Given the description of an element on the screen output the (x, y) to click on. 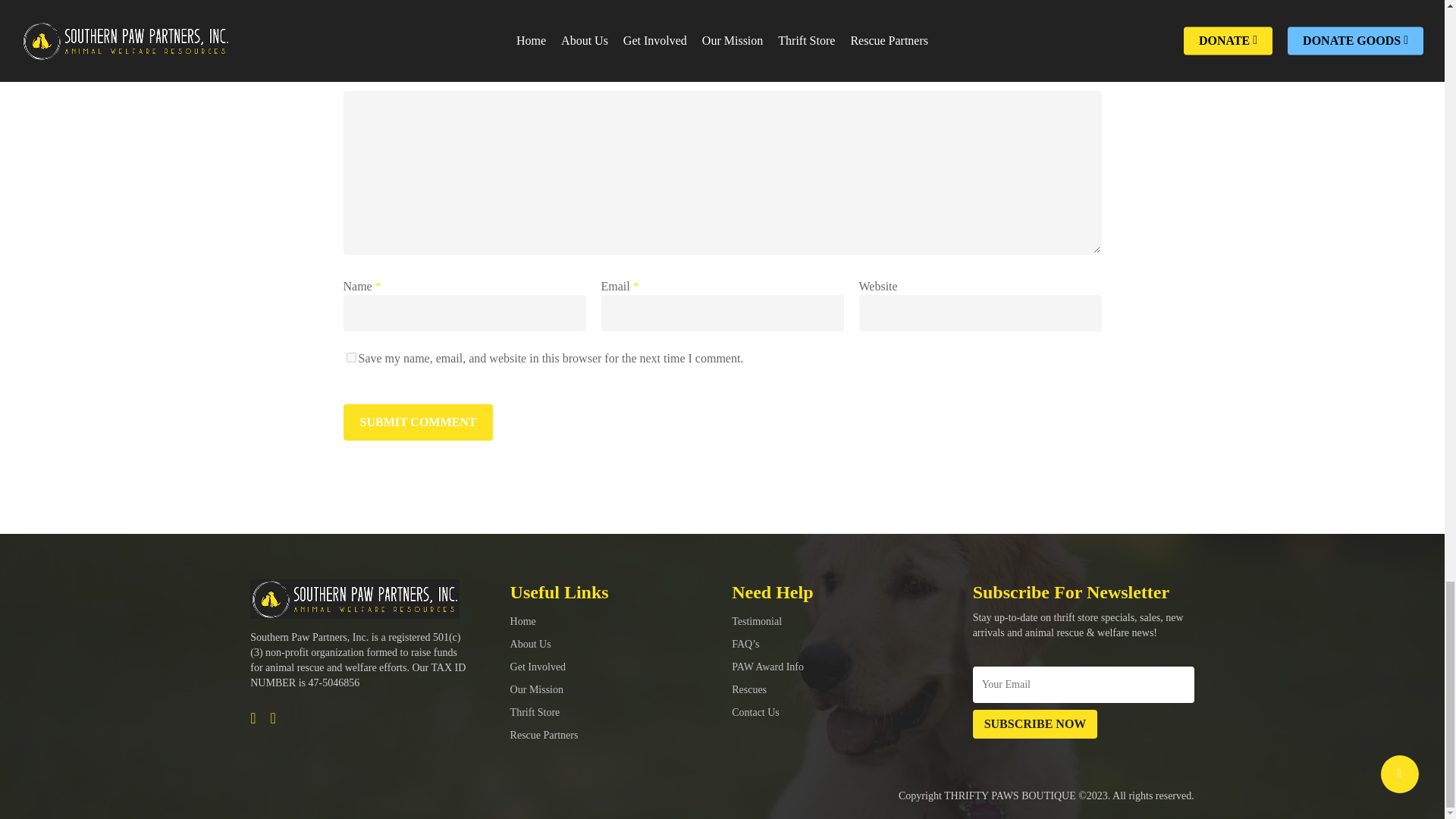
SUBSCRIBE NOW (1034, 724)
Submit Comment (417, 422)
Get Involved (538, 666)
Rescue Partners (544, 735)
Submit Comment (417, 422)
yes (350, 357)
PAW Award Info (767, 666)
Thrift Store (535, 712)
Rescues (749, 689)
Our Mission (537, 689)
SUBSCRIBE NOW (1034, 724)
Contact Us (755, 712)
Home (523, 621)
Testimonial (756, 621)
About Us (531, 644)
